Given the description of an element on the screen output the (x, y) to click on. 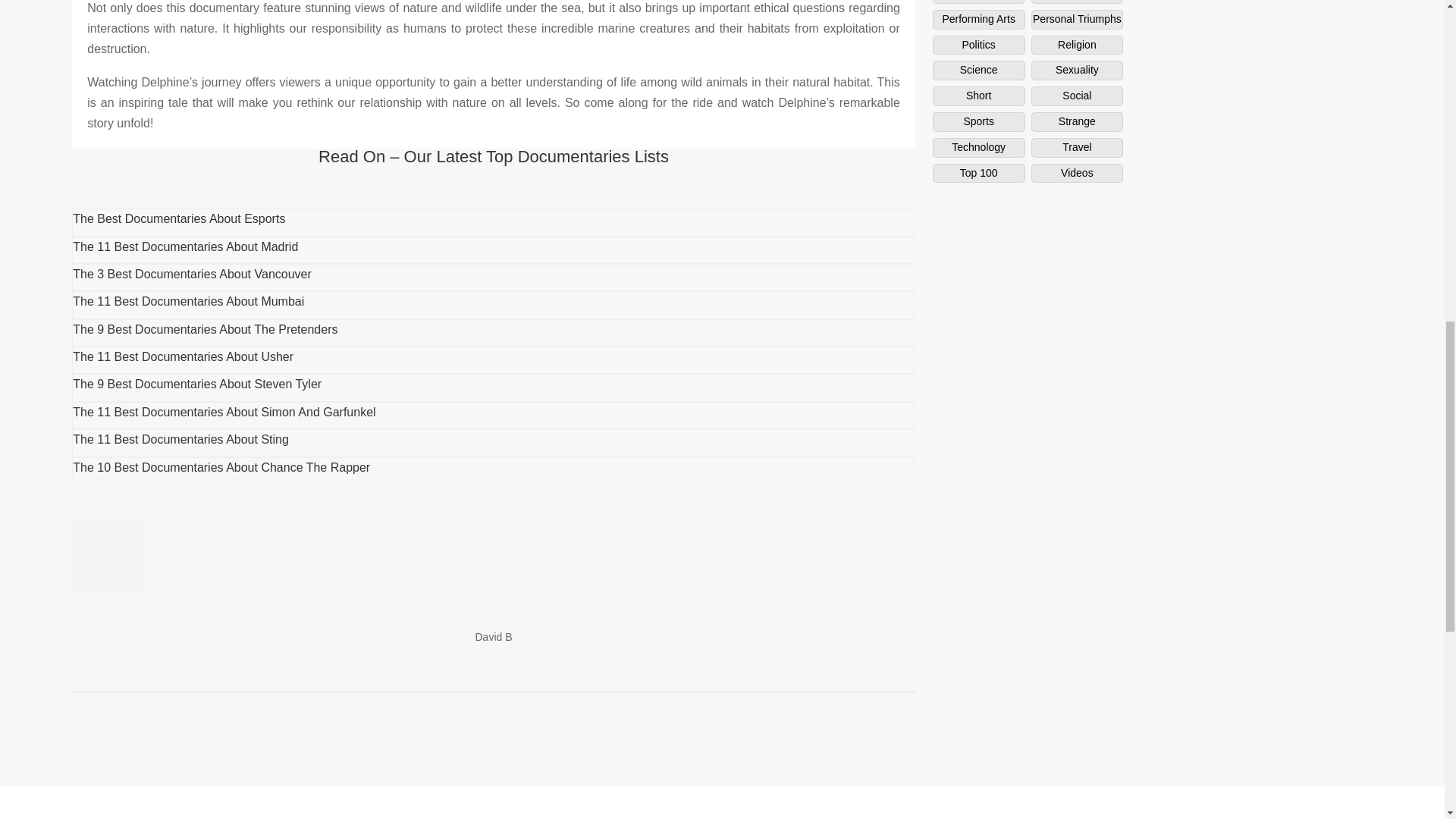
The 11 Best Documentaries About Usher (183, 356)
The 11 Best Documentaries About Mumbai (188, 301)
The 3 Best Documentaries About Vancouver (191, 273)
The 9 Best Documentaries About The Pretenders (204, 328)
The 11 Best Documentaries About Simon And Garfunkel (223, 411)
The 10 Best Documentaries About Chance The Rapper (220, 467)
The 11 Best Documentaries About Madrid (185, 246)
The 9 Best Documentaries About Steven Tyler (196, 384)
The Best Documentaries About Esports (178, 218)
The 11 Best Documentaries About Sting (180, 439)
